Given the description of an element on the screen output the (x, y) to click on. 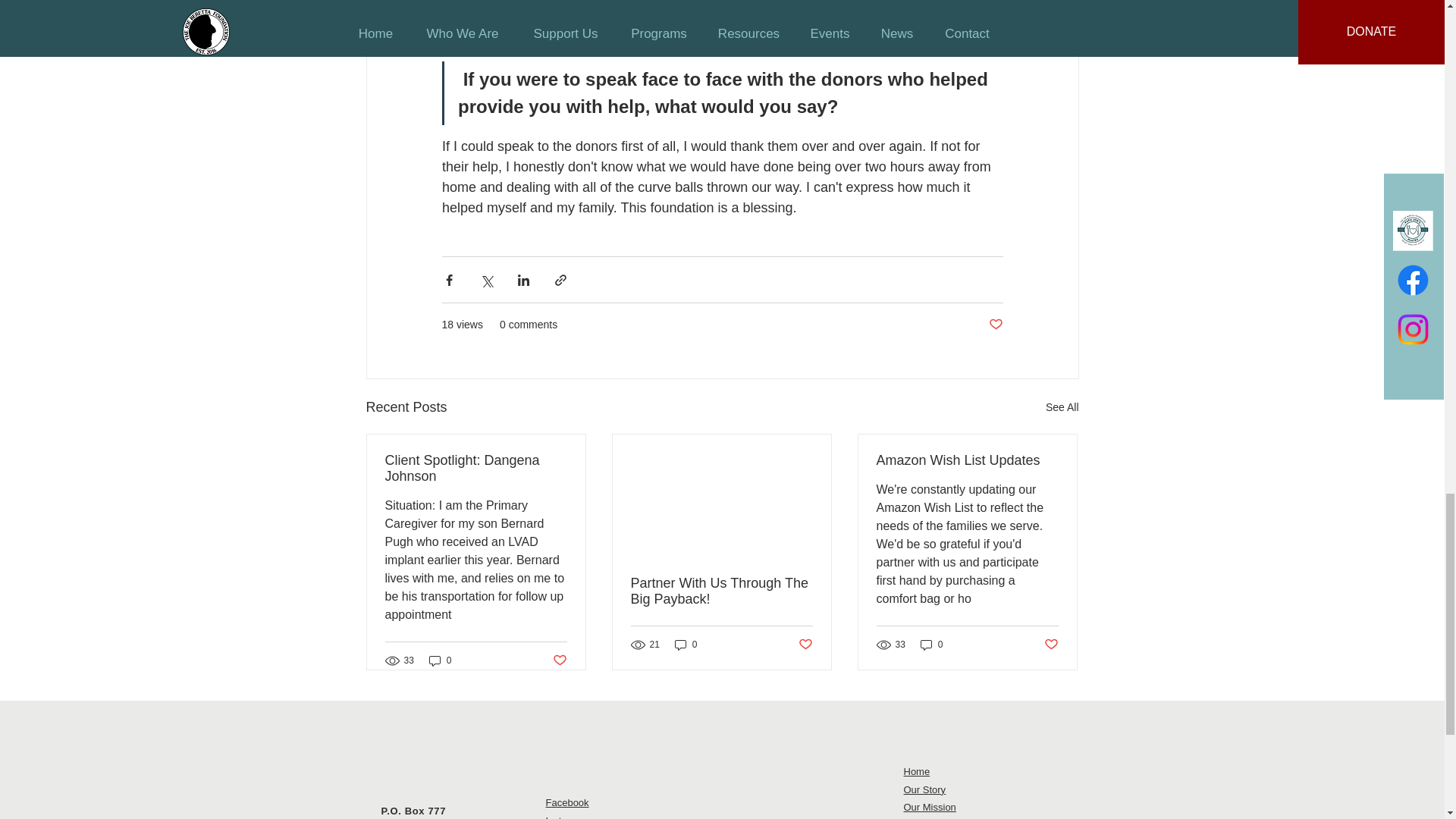
0 (440, 660)
See All (1061, 407)
Client Spotlight: Dangena Johnson (476, 468)
Post not marked as liked (558, 660)
Post not marked as liked (995, 324)
